Given the description of an element on the screen output the (x, y) to click on. 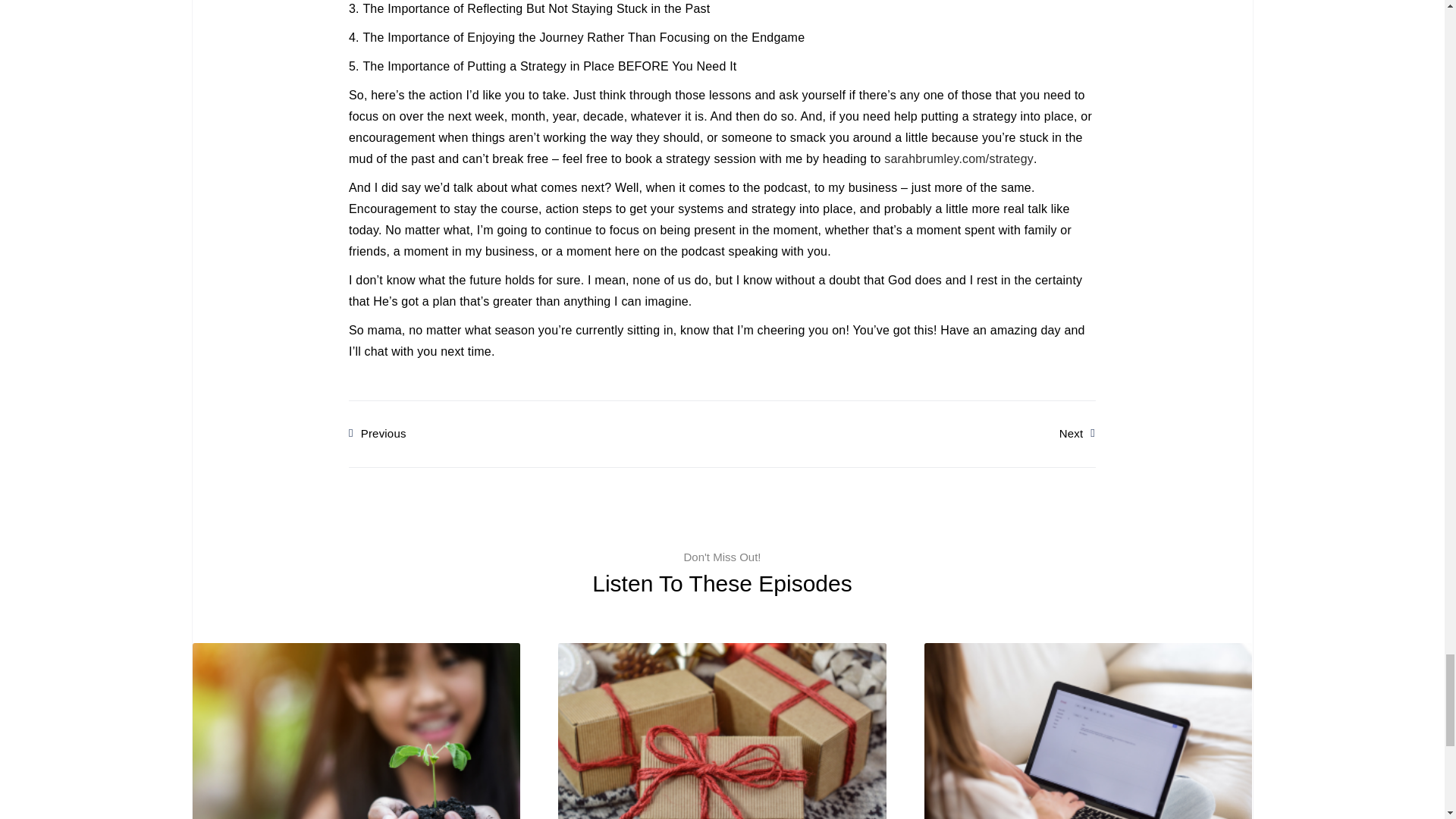
Next (1076, 433)
Previous (535, 433)
